Given the description of an element on the screen output the (x, y) to click on. 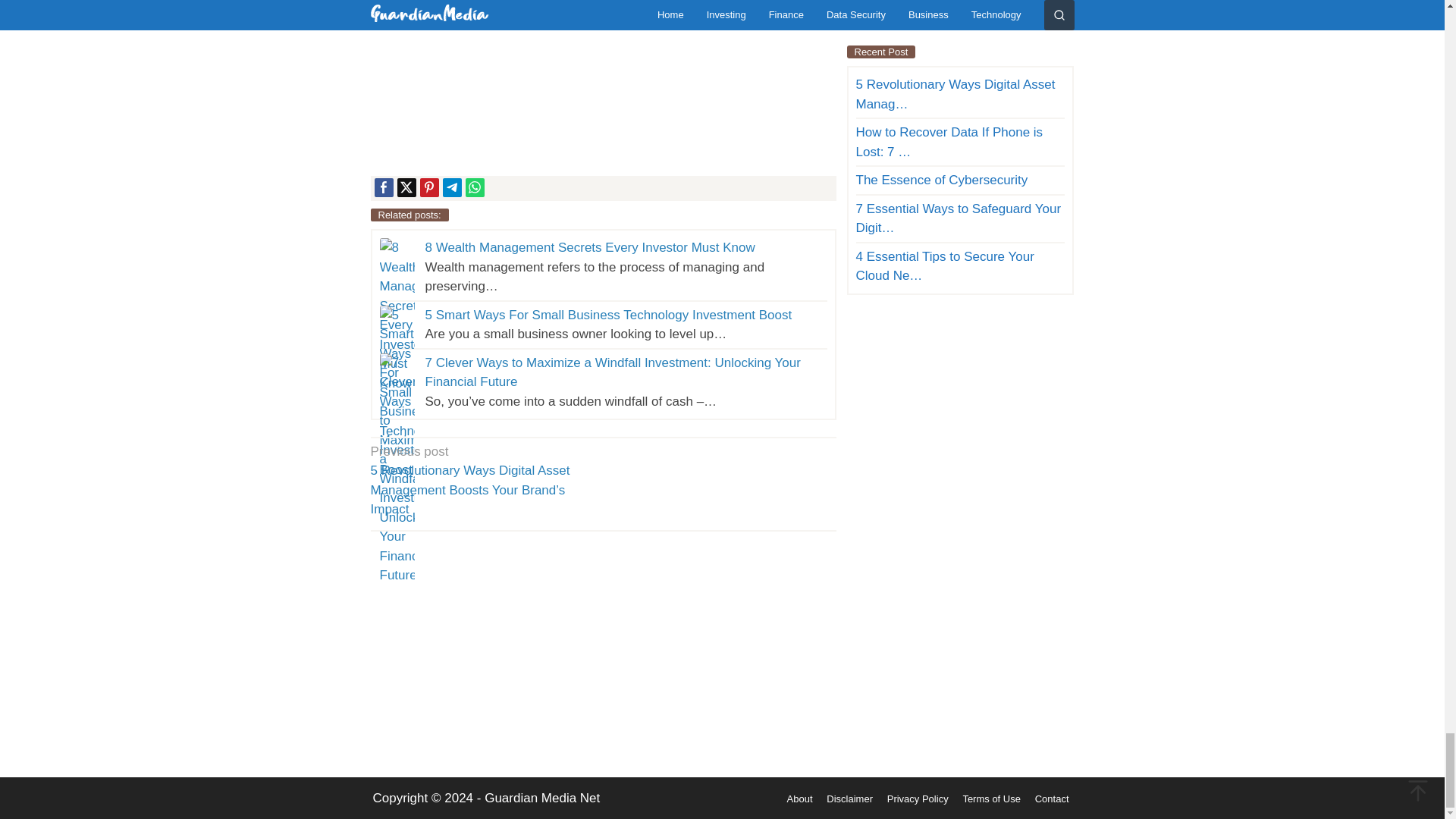
Share this (383, 186)
Tweet this (406, 186)
Telegram Share (451, 186)
Pin this (429, 186)
